Given the description of an element on the screen output the (x, y) to click on. 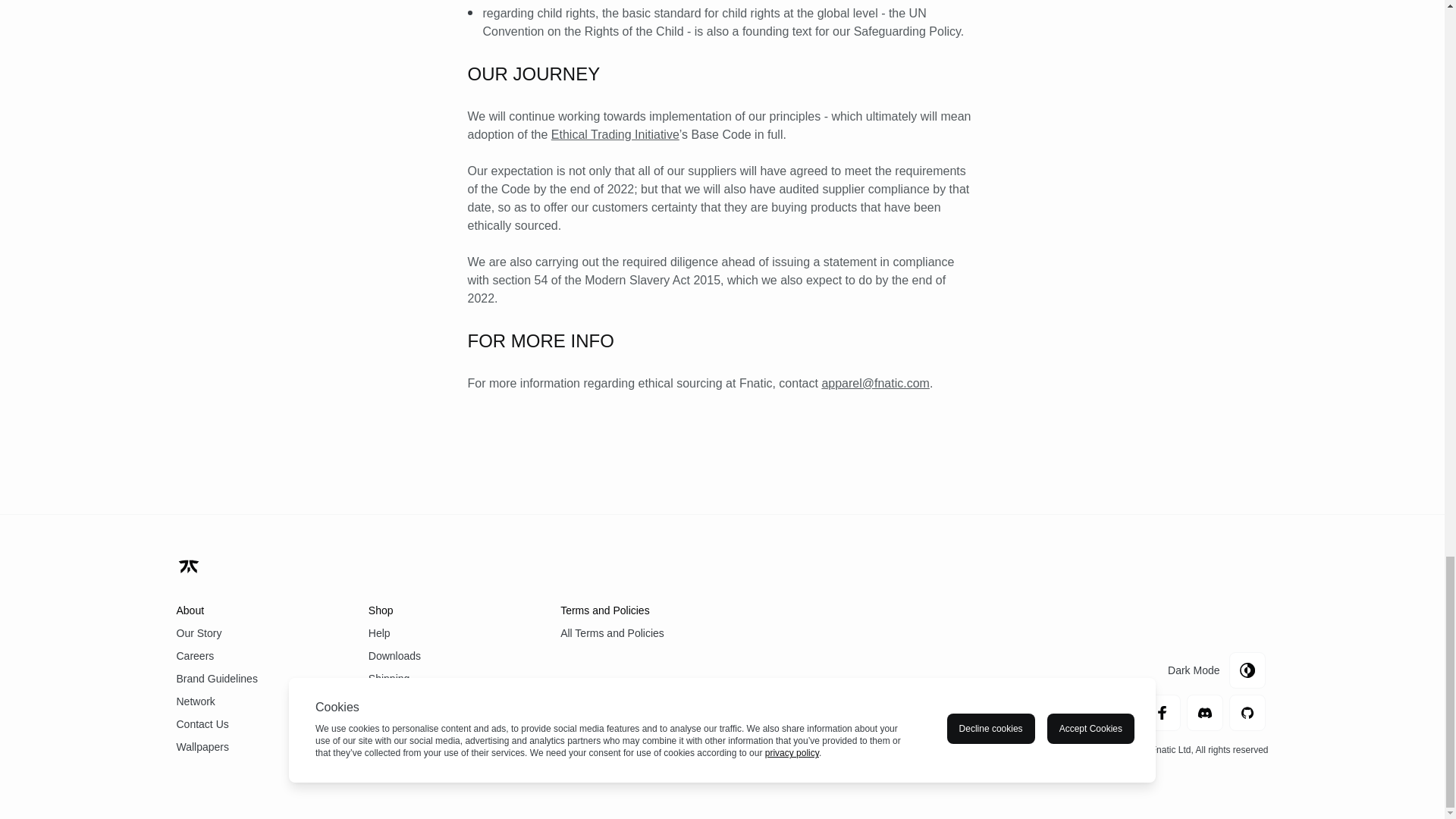
Careers (256, 655)
Brand Guidelines (256, 678)
Our Story (256, 632)
Safeguarding Policy (906, 31)
Ethical Trading Initiative (615, 133)
